Given the description of an element on the screen output the (x, y) to click on. 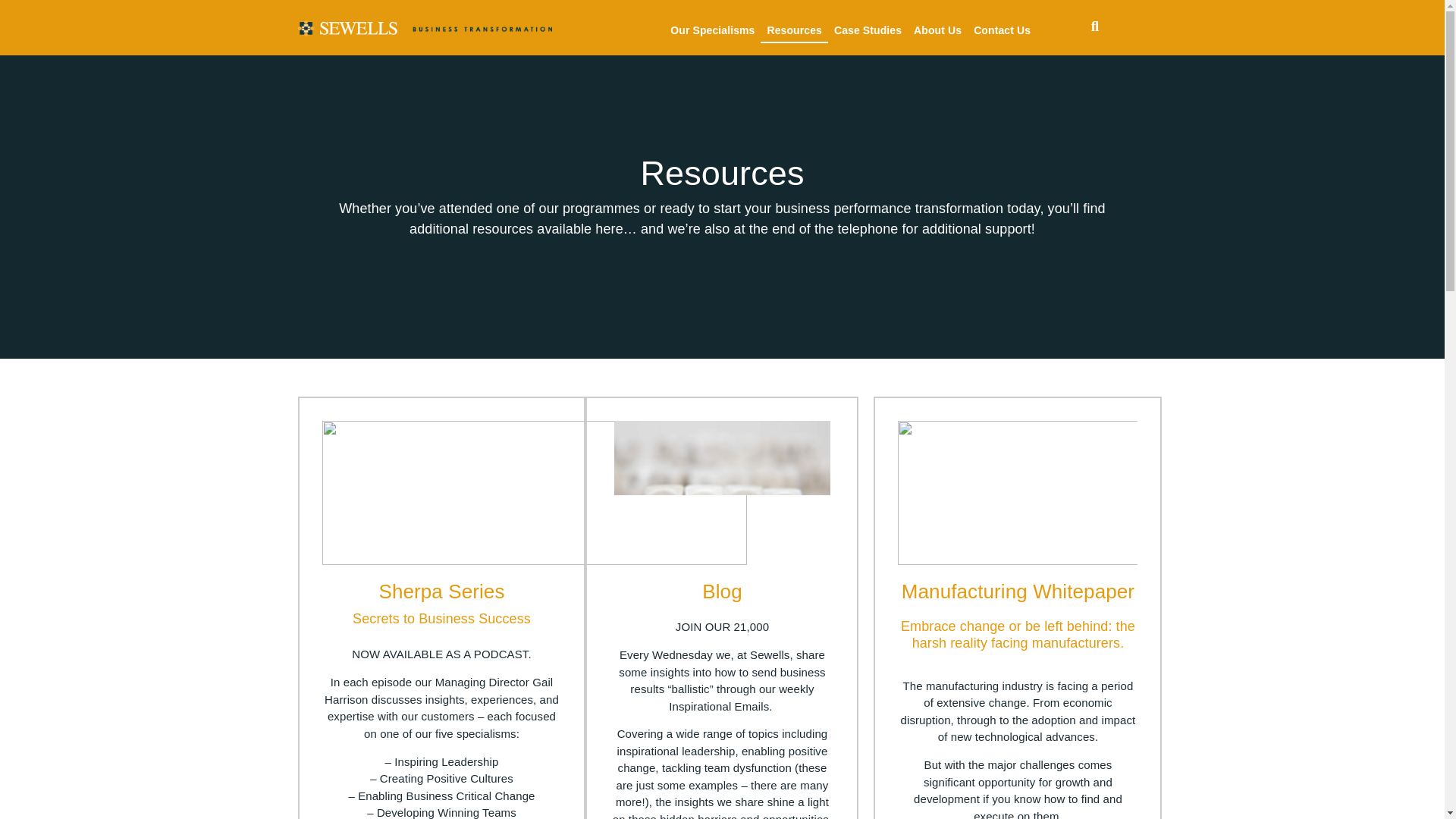
Case Studies (867, 30)
Resources (794, 30)
About Us (937, 30)
Contact Us (1002, 30)
Our Specialisms (711, 30)
